Given the description of an element on the screen output the (x, y) to click on. 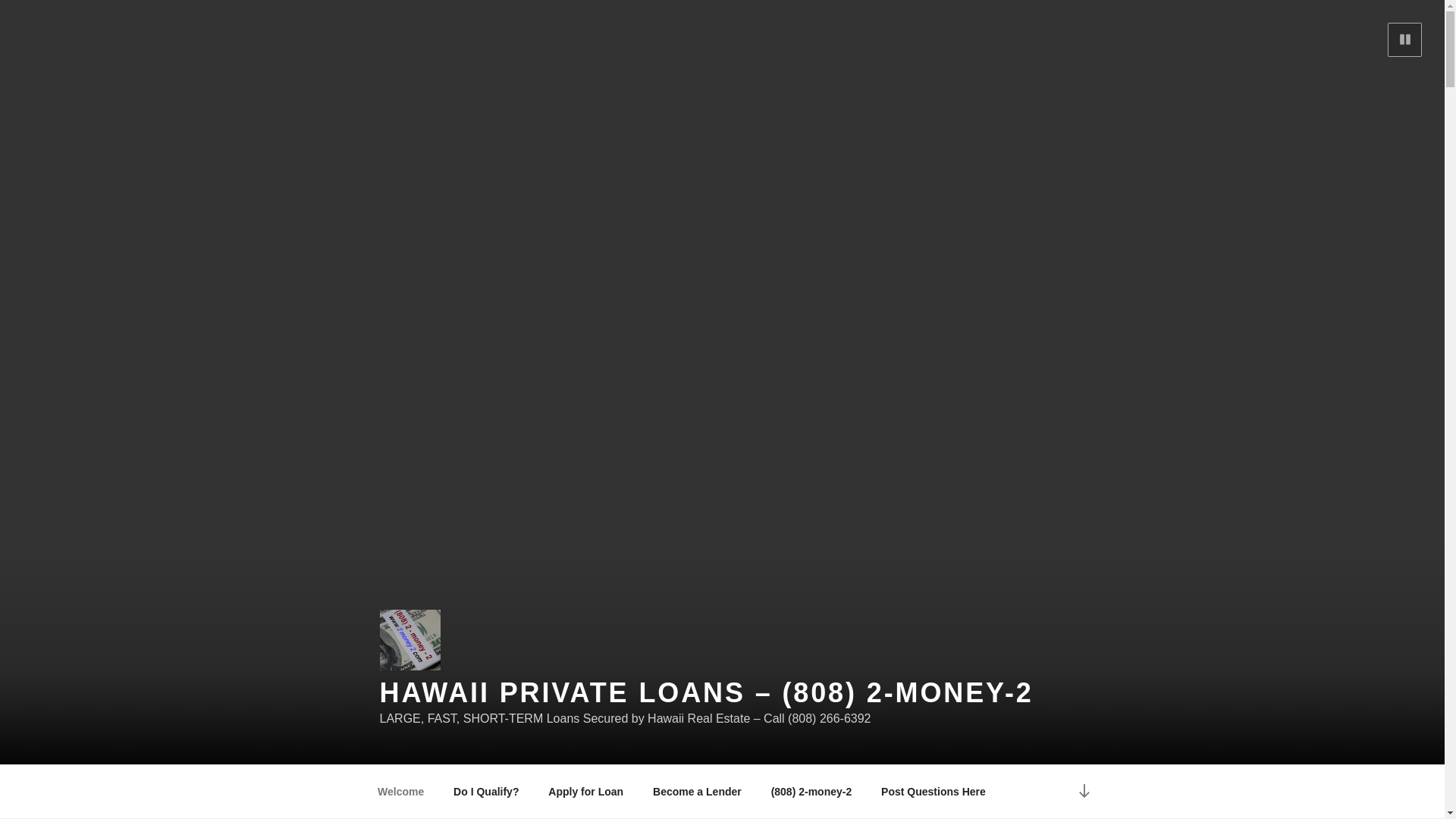
Apply for Loan (586, 791)
Pause background video (1404, 39)
Scroll down to content (1082, 791)
Scroll down to content (1082, 791)
Do I Qualify? (486, 791)
Become a Lender (697, 791)
Post Questions Here (932, 791)
Welcome (400, 791)
